Given the description of an element on the screen output the (x, y) to click on. 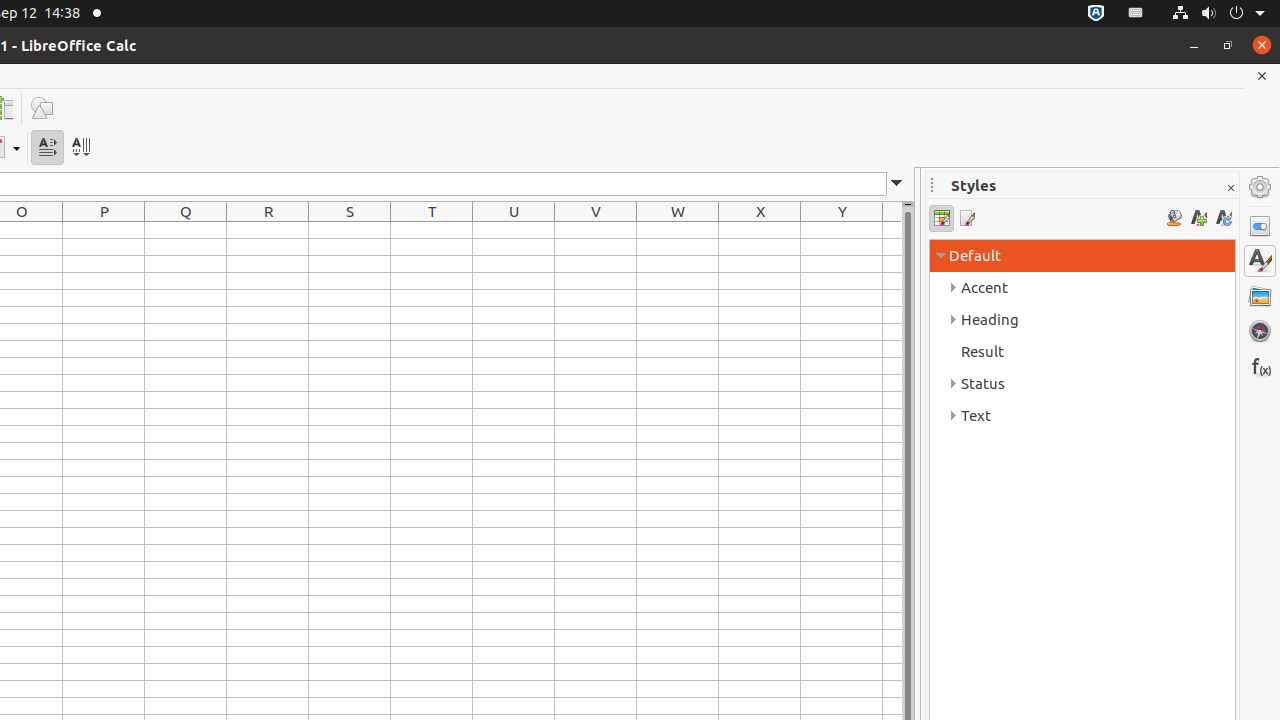
:1.72/StatusNotifierItem Element type: menu (1096, 13)
Cell Styles Element type: push-button (941, 218)
Q1 Element type: table-cell (186, 230)
Text direction from top to bottom Element type: toggle-button (80, 147)
Navigator Element type: radio-button (1260, 331)
